Given the description of an element on the screen output the (x, y) to click on. 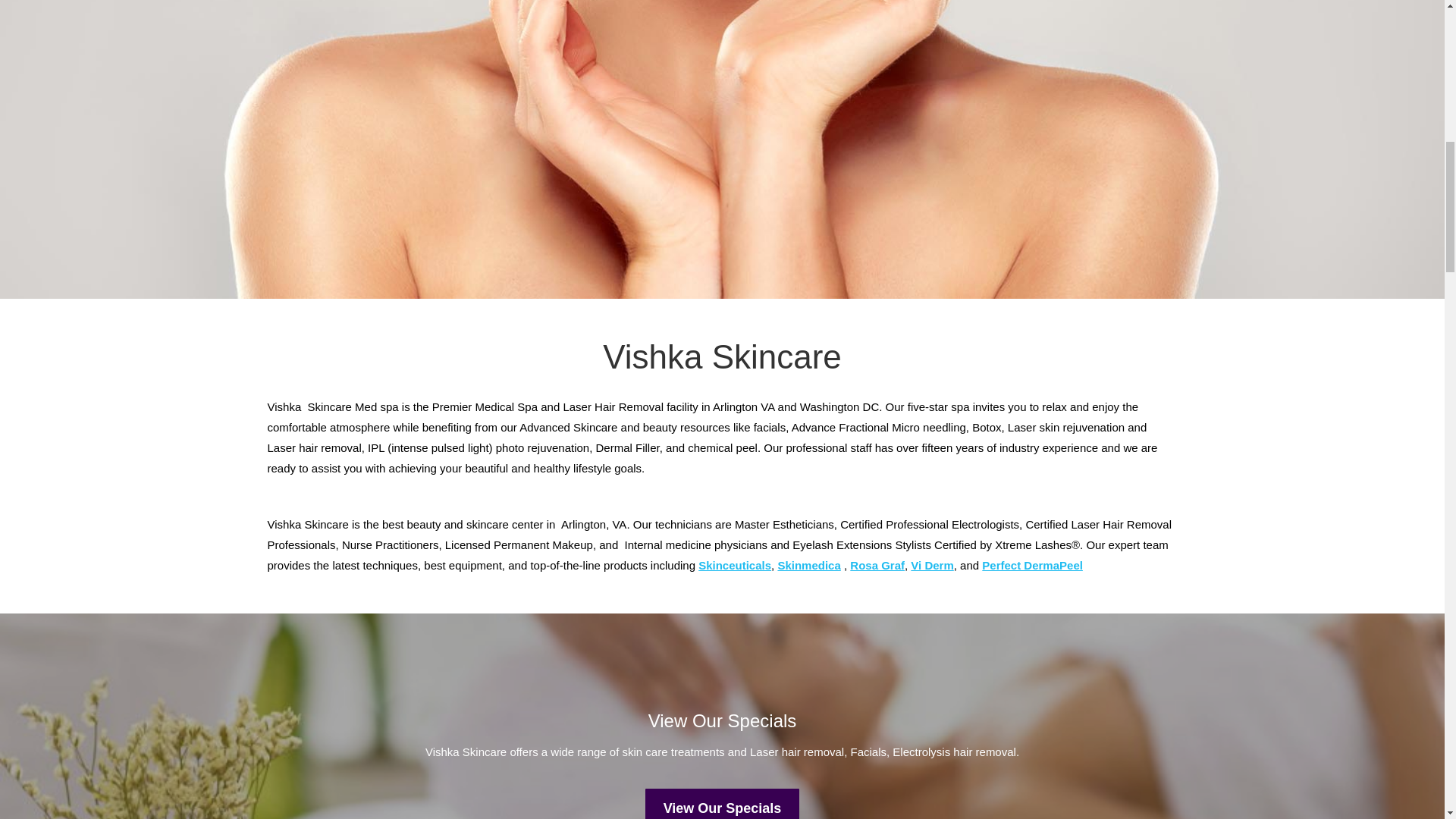
10 Proven Tips For Fighting Acne (722, 803)
